Given the description of an element on the screen output the (x, y) to click on. 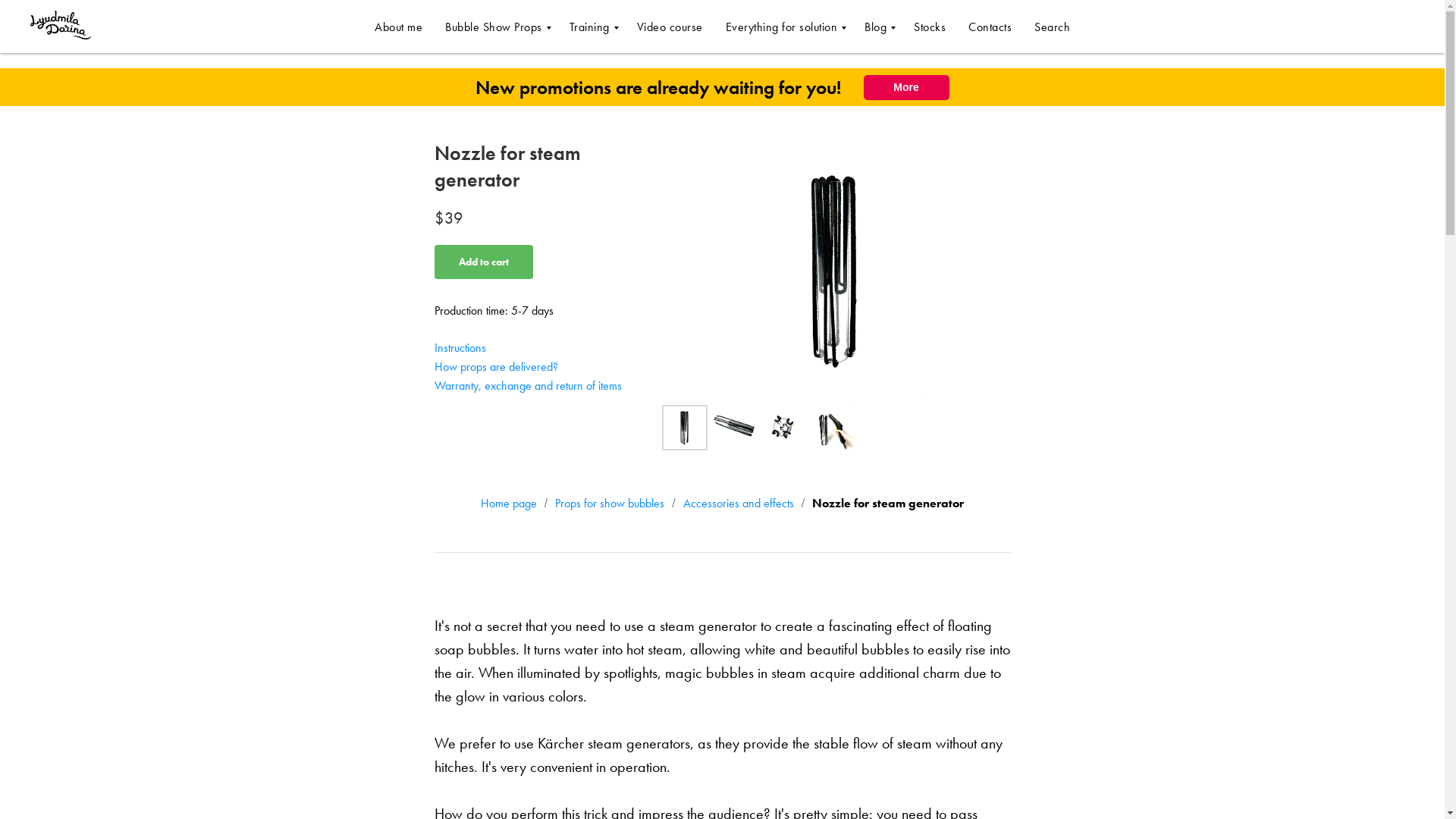
Video course (670, 26)
Blog (877, 26)
Stocks (929, 26)
Search (1051, 26)
Contacts (989, 26)
Training (590, 26)
About me (398, 26)
Everything for solution (783, 26)
Bubble Show Props (496, 26)
